Given the description of an element on the screen output the (x, y) to click on. 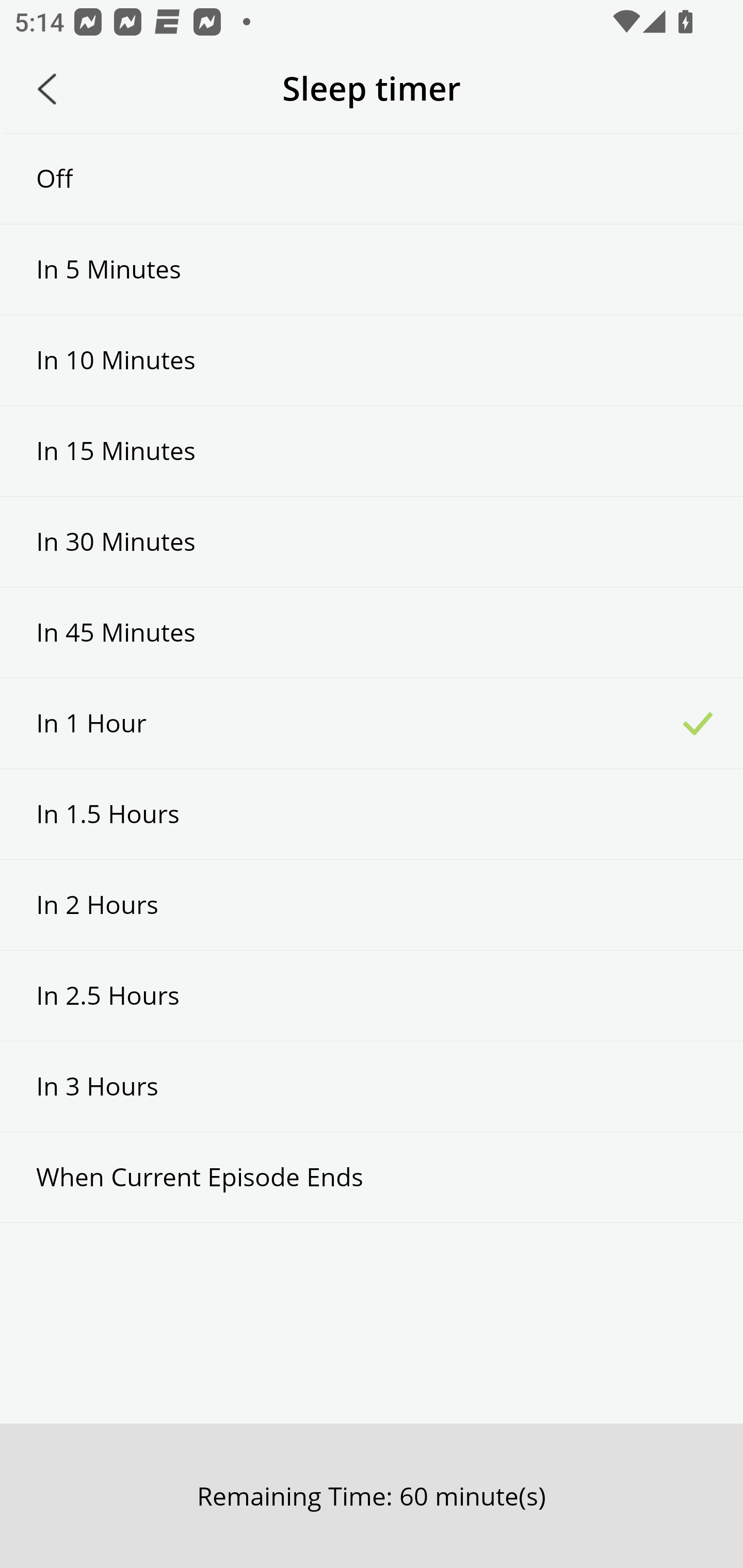
Back (46, 88)
Off (371, 178)
In 5 Minutes (371, 269)
In 10 Minutes (371, 360)
In 15 Minutes (371, 450)
In 30 Minutes (371, 541)
In 45 Minutes (371, 632)
In 1 Hour (371, 723)
In 1.5 Hours (371, 813)
In 2 Hours (371, 904)
In 2.5 Hours (371, 995)
In 3 Hours (371, 1086)
When Current Episode Ends (371, 1177)
